Given the description of an element on the screen output the (x, y) to click on. 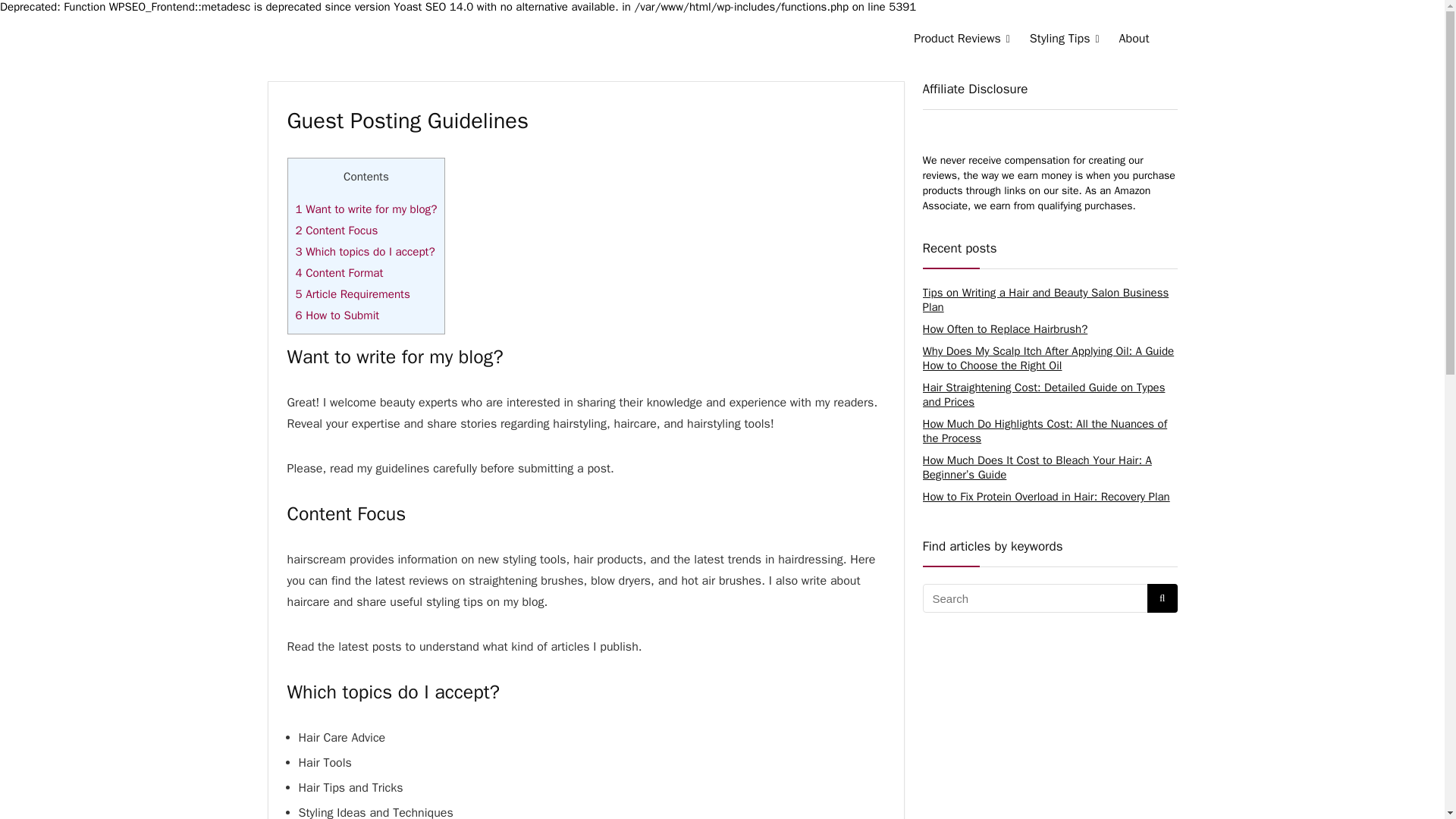
About (1133, 39)
How Often to Replace Hairbrush? (1004, 328)
How Much Do Highlights Cost: All the Nuances of the Process (1044, 430)
3 Which topics do I accept? (365, 251)
Hair Straightening Cost: Detailed Guide on Types and Prices (1042, 394)
How to Fix Protein Overload in Hair: Recovery Plan (1045, 496)
Styling Tips (1064, 39)
5 Article Requirements (352, 294)
Tips on Writing a Hair and Beauty Salon Business Plan (1045, 299)
